Given the description of an element on the screen output the (x, y) to click on. 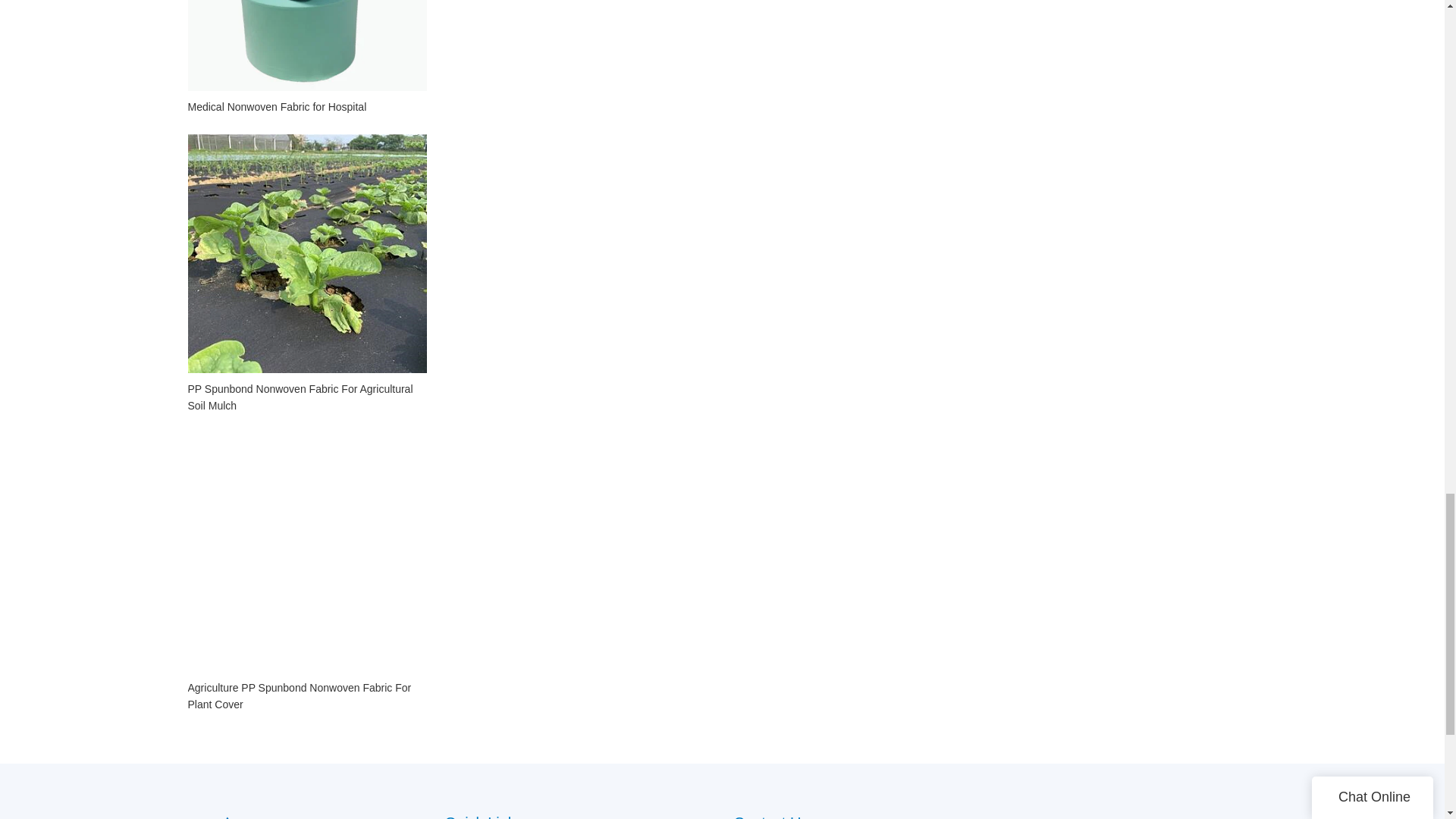
Medical Nonwoven Fabric for Hospital (306, 106)
Agriculture PP Spunbond Nonwoven Fabric For Plant Cover (306, 695)
PP Spunbond Nonwoven Fabric For Agricultural Soil Mulch (306, 397)
